Given the description of an element on the screen output the (x, y) to click on. 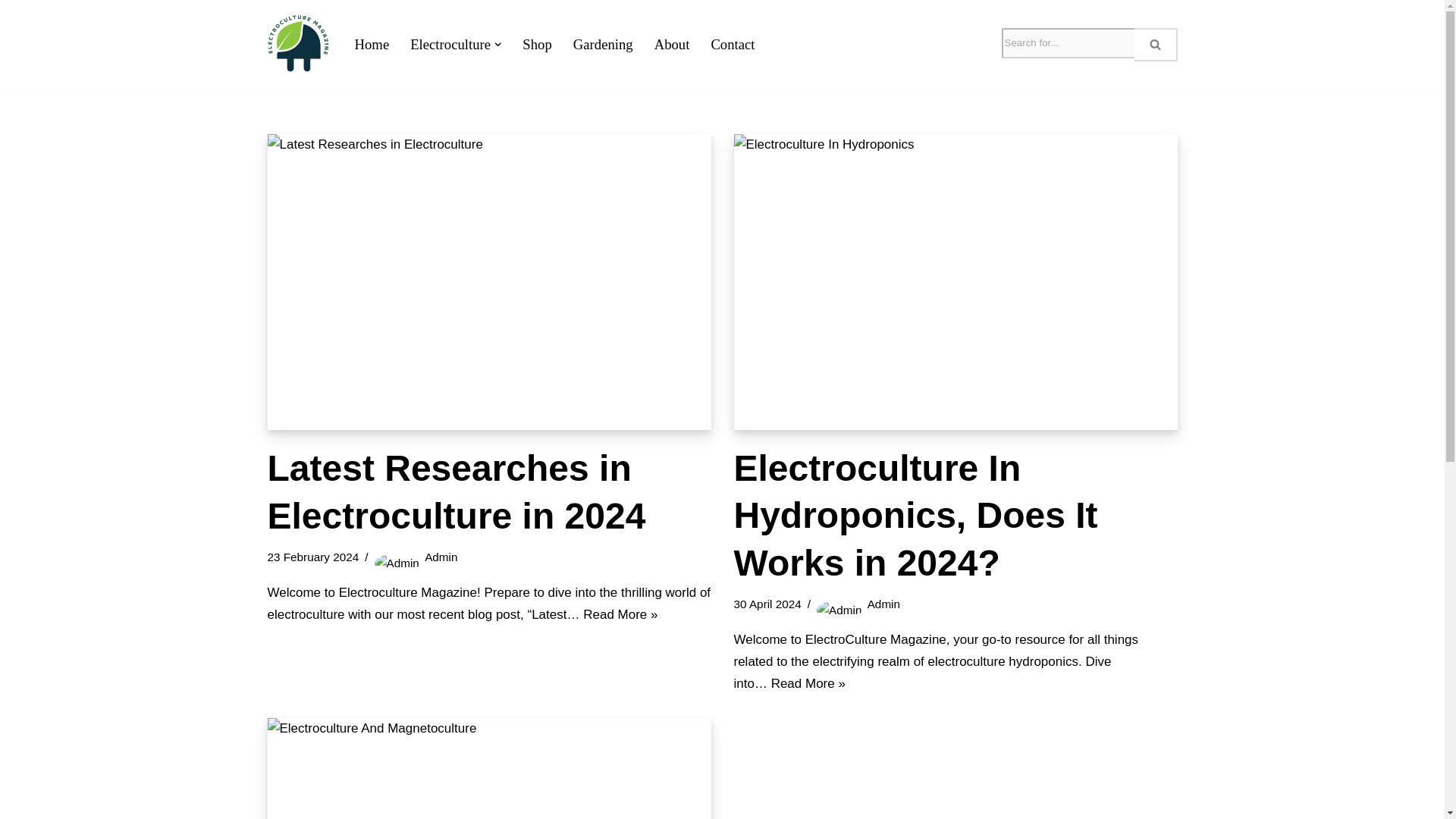
Posts by Admin (441, 556)
Electroculture In Hydroponics, Does It Works in 2024? (955, 281)
Contact (732, 44)
Electroculture (450, 44)
Posts by Admin (883, 603)
Home (372, 44)
Latest Researches in Electroculture in 2024 (488, 281)
Relation Between Electroculture and Magnetoculture in 2024 (488, 768)
About (671, 44)
Admin (883, 603)
Admin (441, 556)
Skip to content (11, 31)
Electroculture In Hydroponics, Does It Works in 2024? (915, 515)
Shop (536, 44)
Gardening (603, 44)
